Given the description of an element on the screen output the (x, y) to click on. 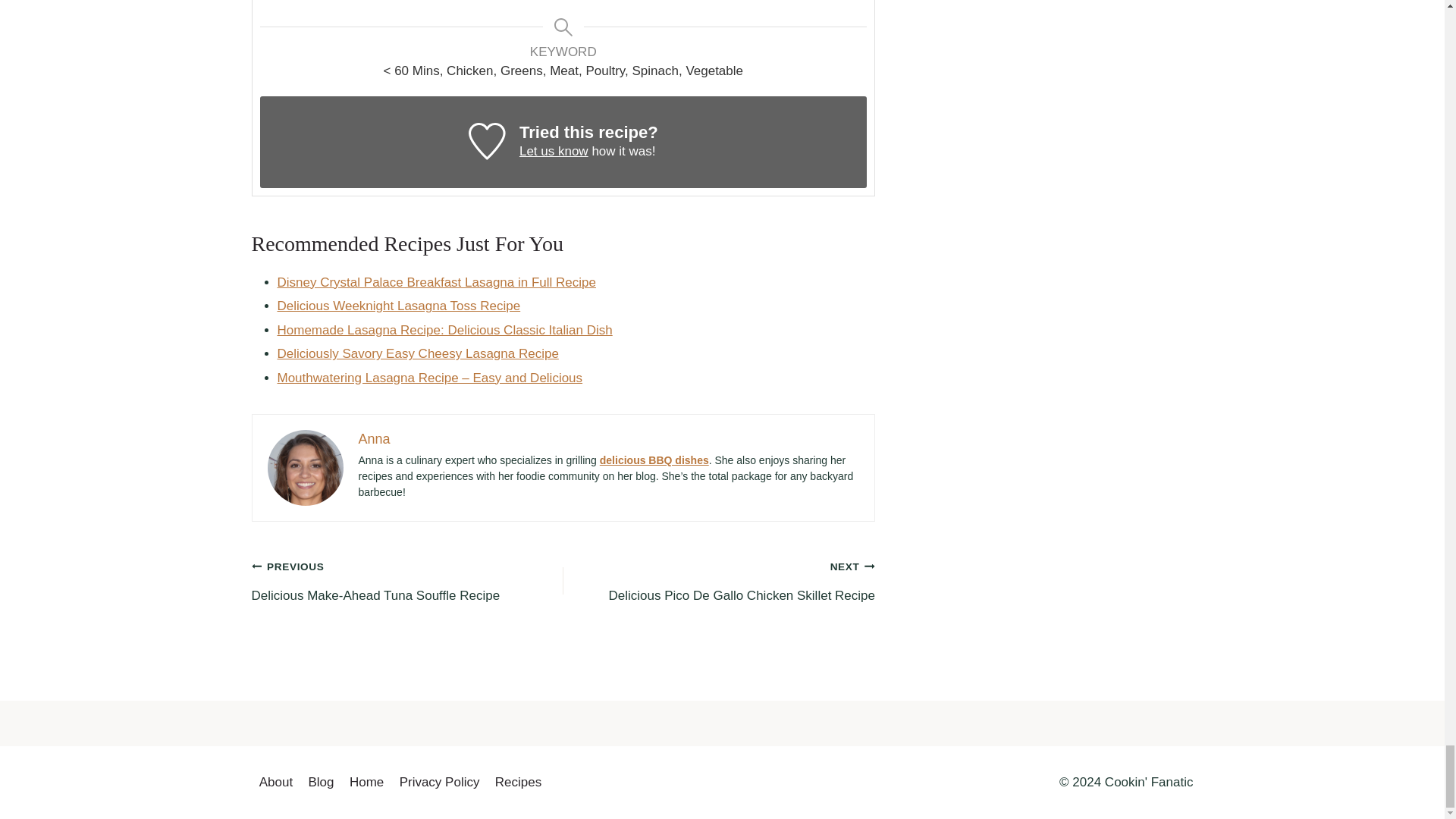
Let us know (553, 151)
Delicious Weeknight Lasagna Toss Recipe (399, 305)
Disney Crystal Palace Breakfast Lasagna in Full Recipe (436, 282)
